Given the description of an element on the screen output the (x, y) to click on. 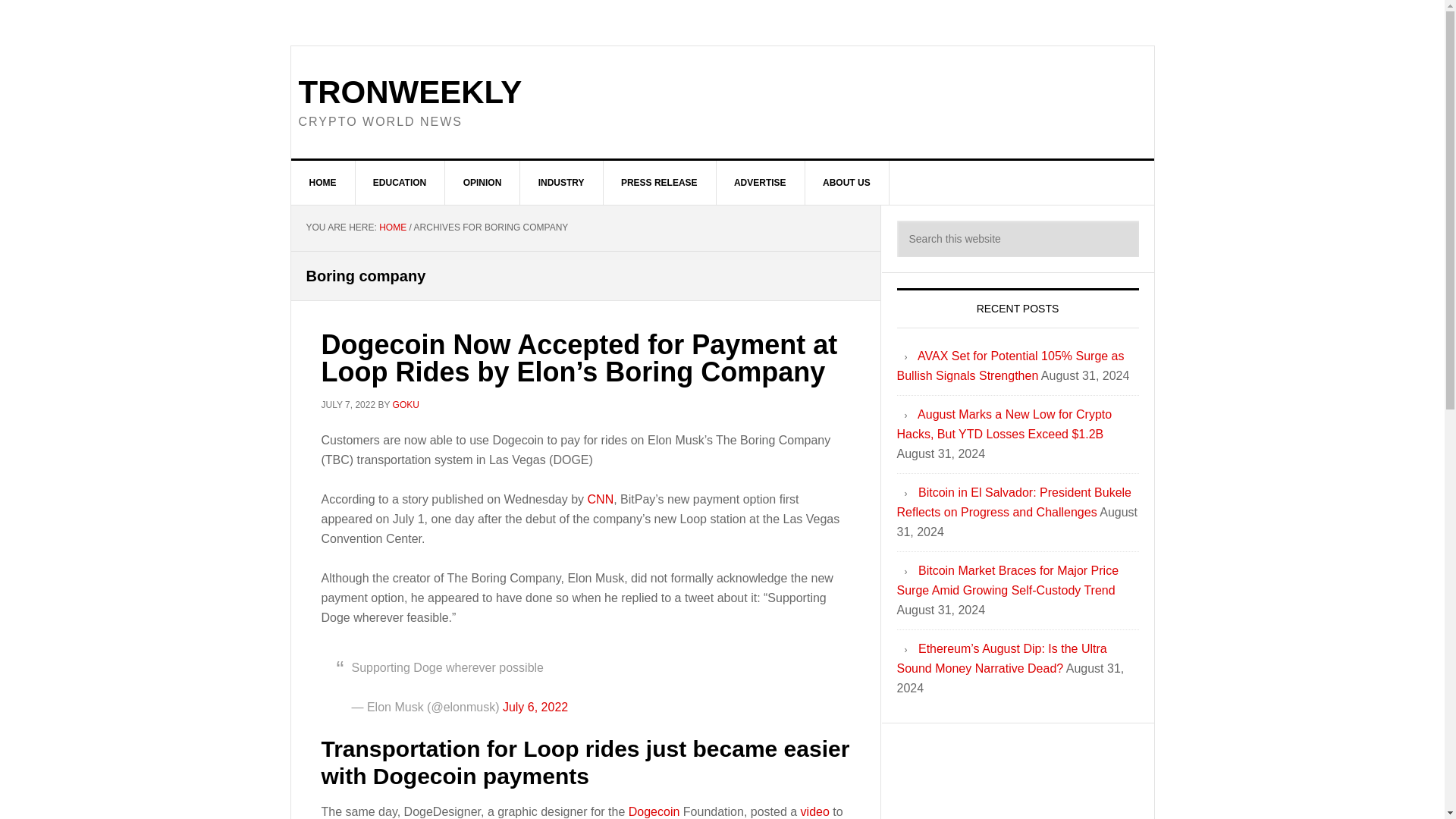
video (814, 811)
INDUSTRY (561, 182)
HOME (323, 182)
OPINION (483, 182)
GOKU (406, 403)
PRESS RELEASE (659, 182)
CNN (601, 499)
July 6, 2022 (534, 707)
ADVERTISE (760, 182)
